Given the description of an element on the screen output the (x, y) to click on. 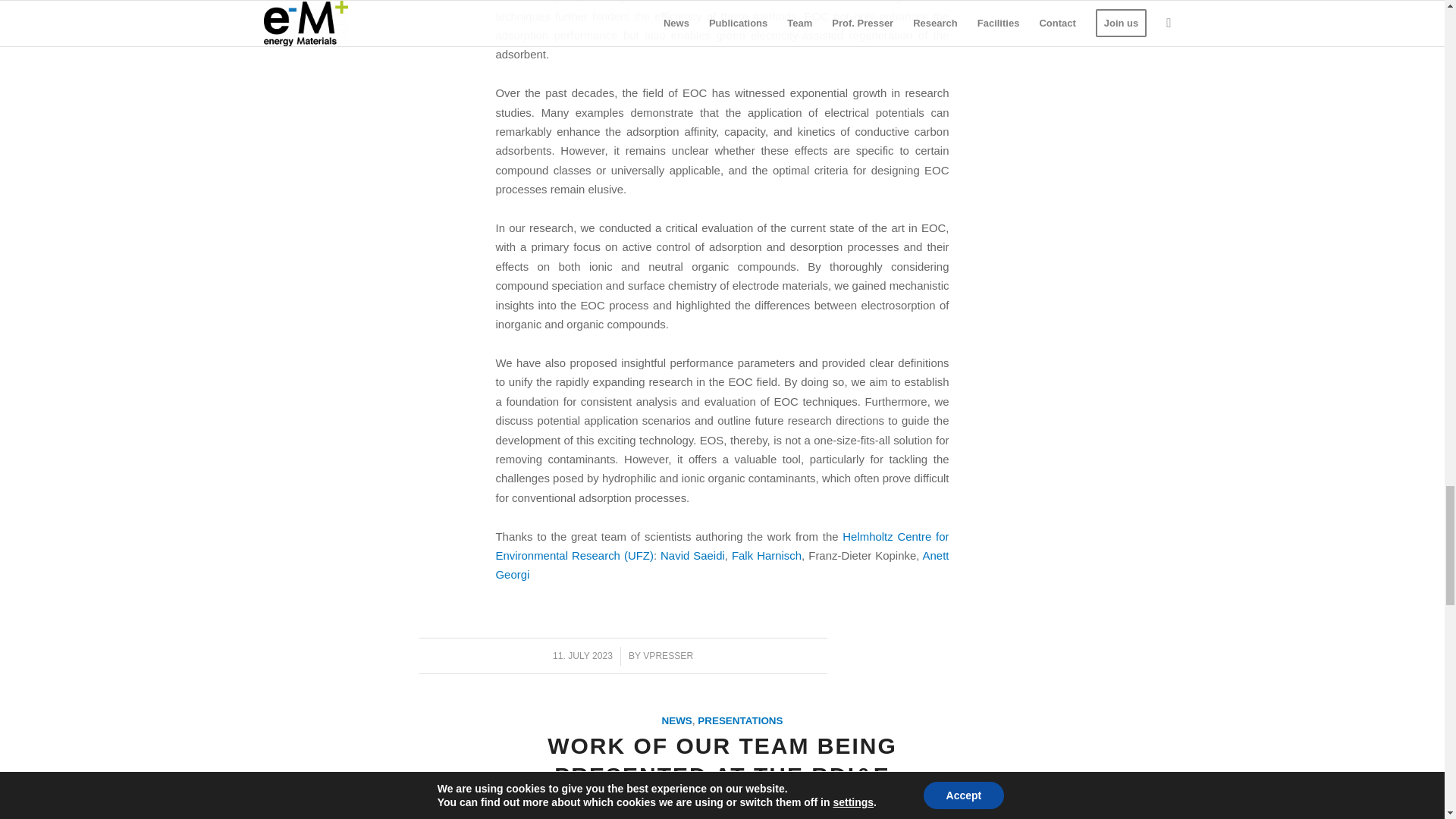
Posts by vpresser (668, 655)
